Given the description of an element on the screen output the (x, y) to click on. 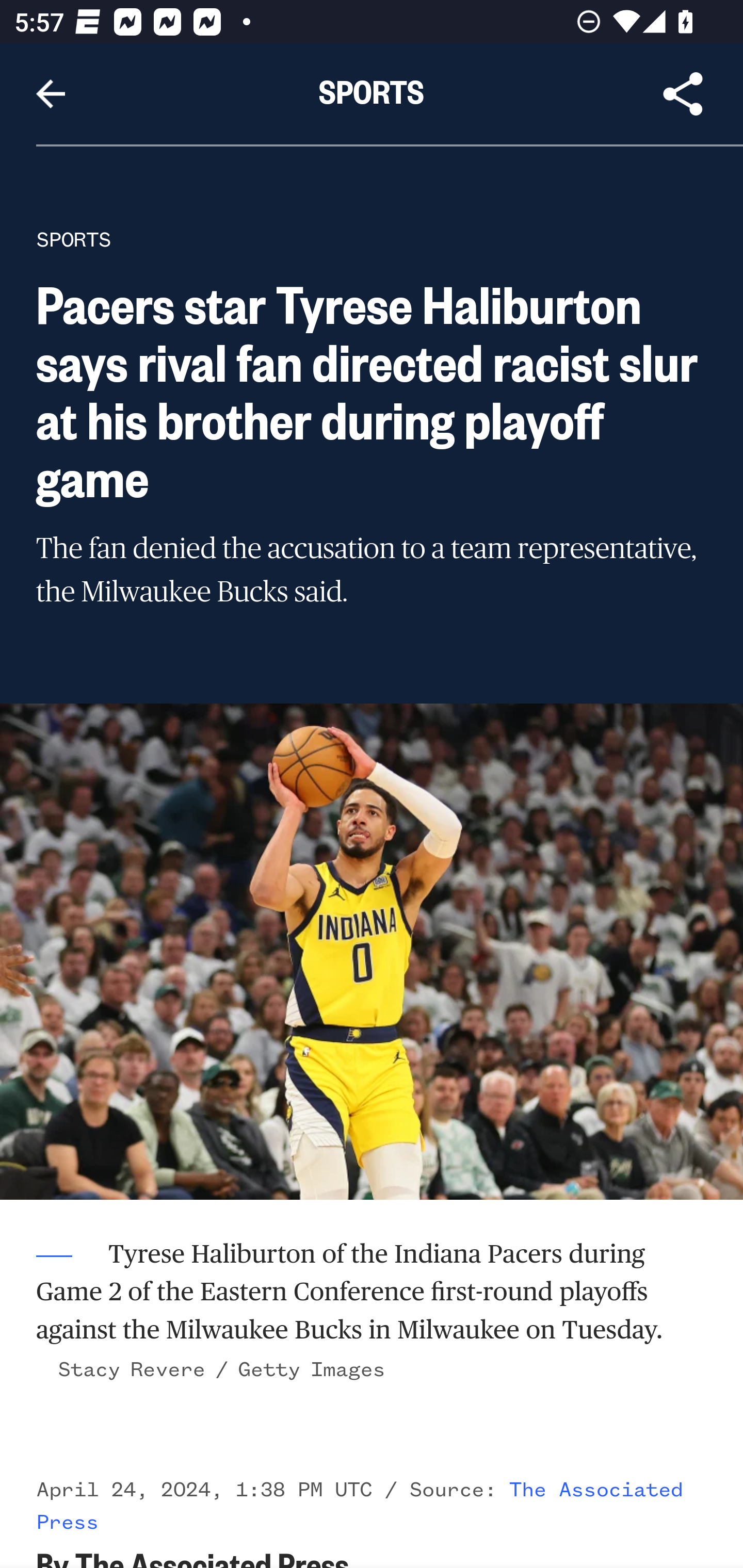
Navigate up (50, 93)
Share Article, button (683, 94)
